Given the description of an element on the screen output the (x, y) to click on. 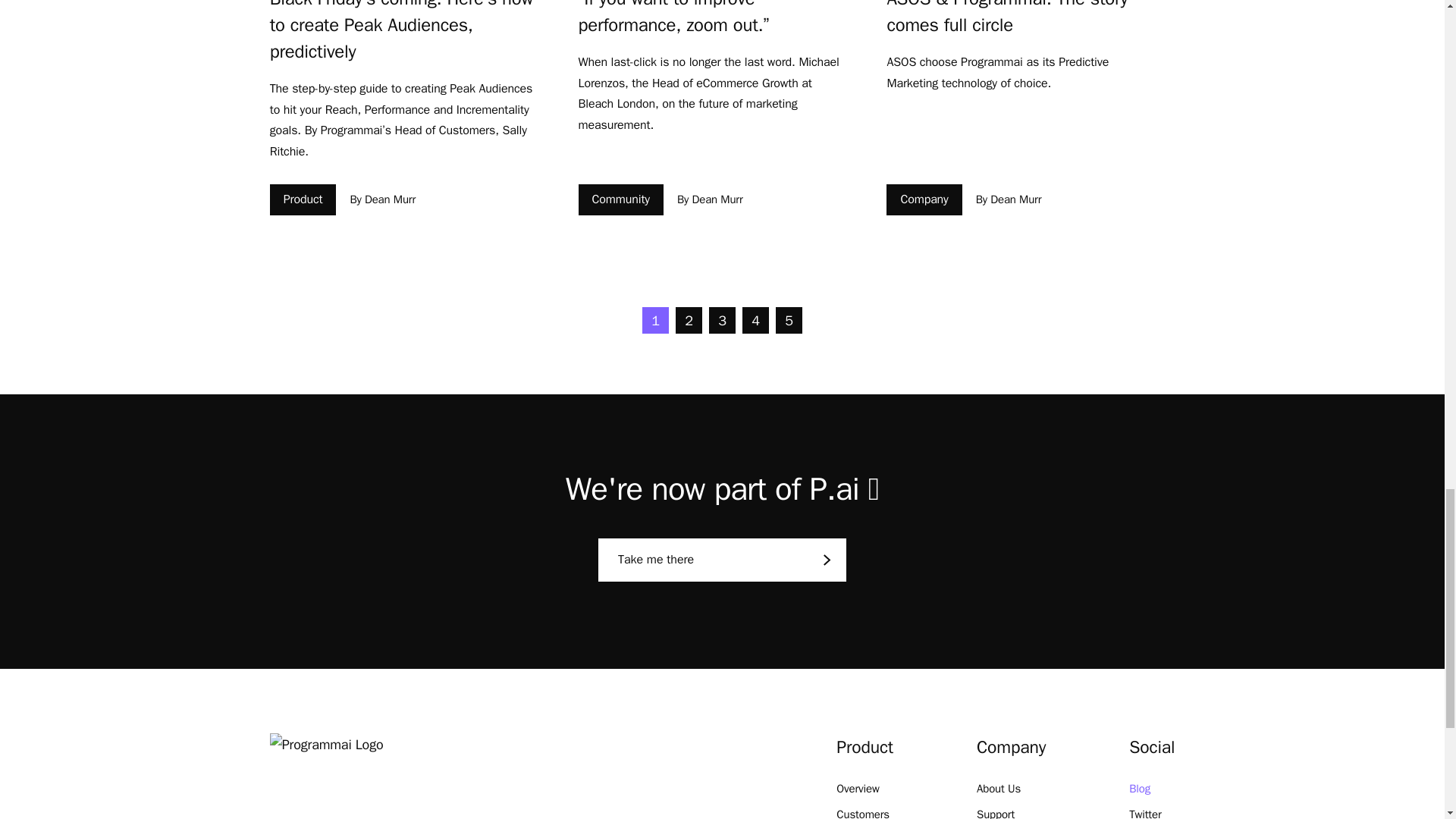
3 (722, 320)
4 (755, 320)
1 (655, 320)
2 (688, 320)
5 (789, 320)
